Given the description of an element on the screen output the (x, y) to click on. 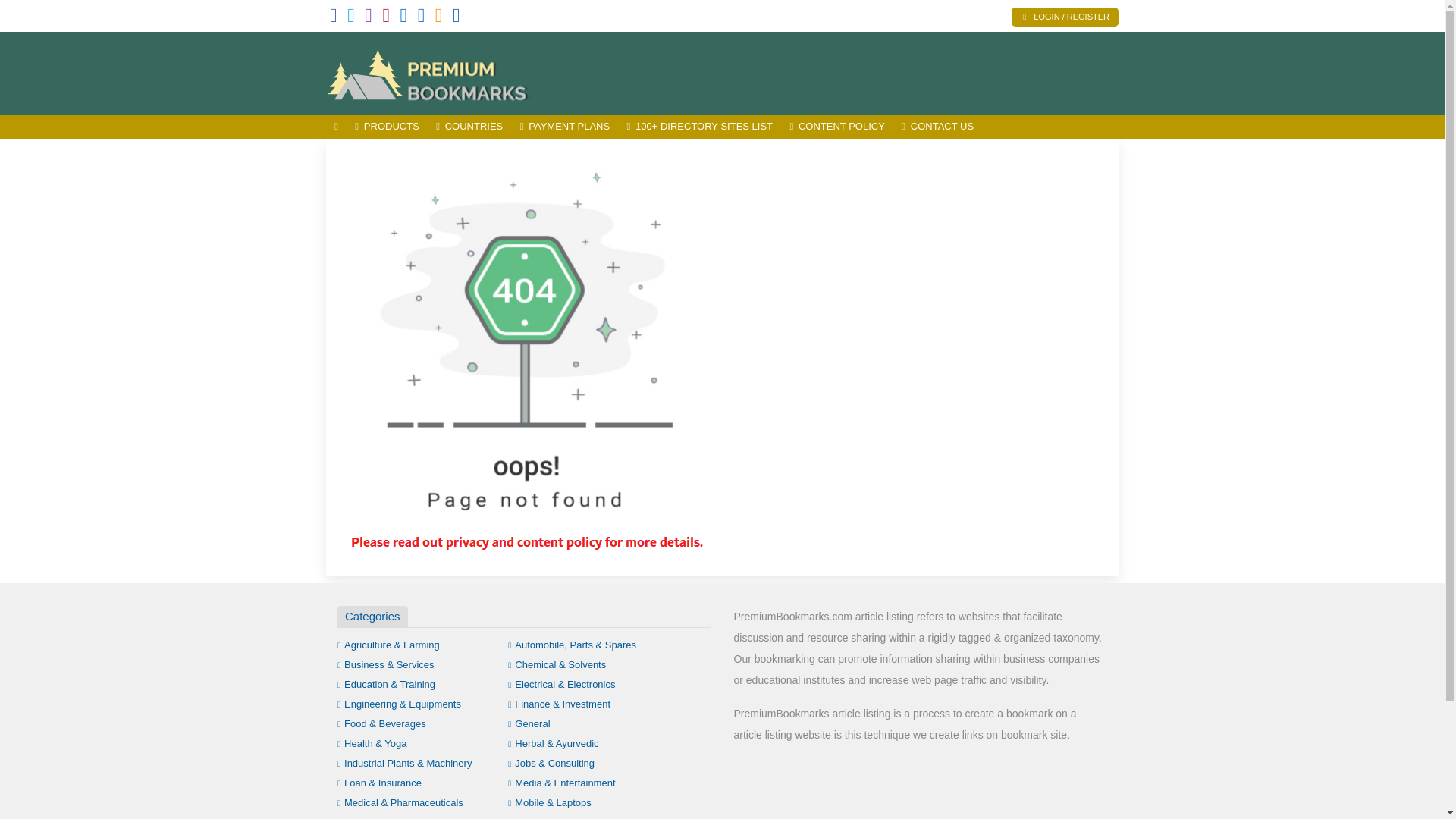
CONTACT US (937, 126)
PAYMENT PLANS (564, 126)
CONTENT POLICY (836, 126)
COUNTRIES (469, 126)
PRODUCTS (387, 126)
General (529, 723)
